Given the description of an element on the screen output the (x, y) to click on. 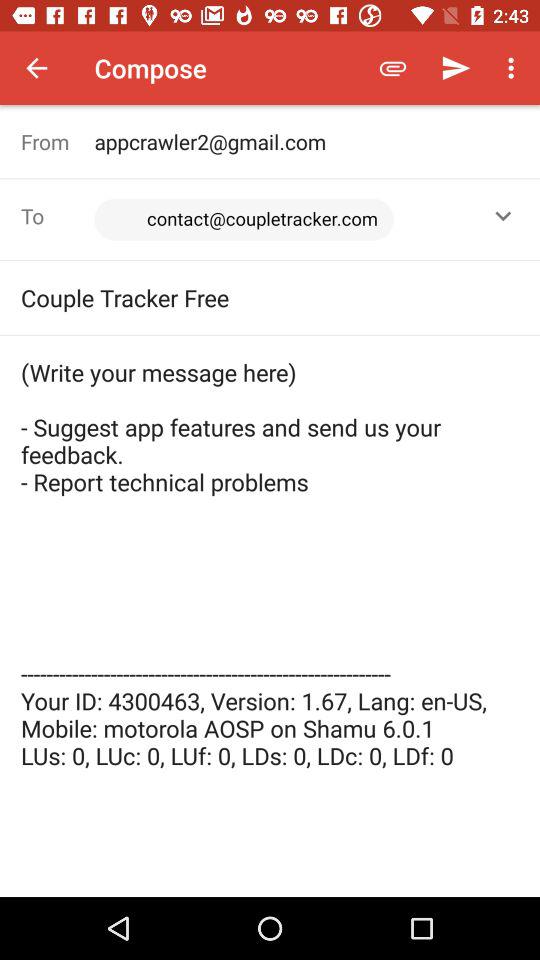
press the item to the left of the compose icon (36, 68)
